Given the description of an element on the screen output the (x, y) to click on. 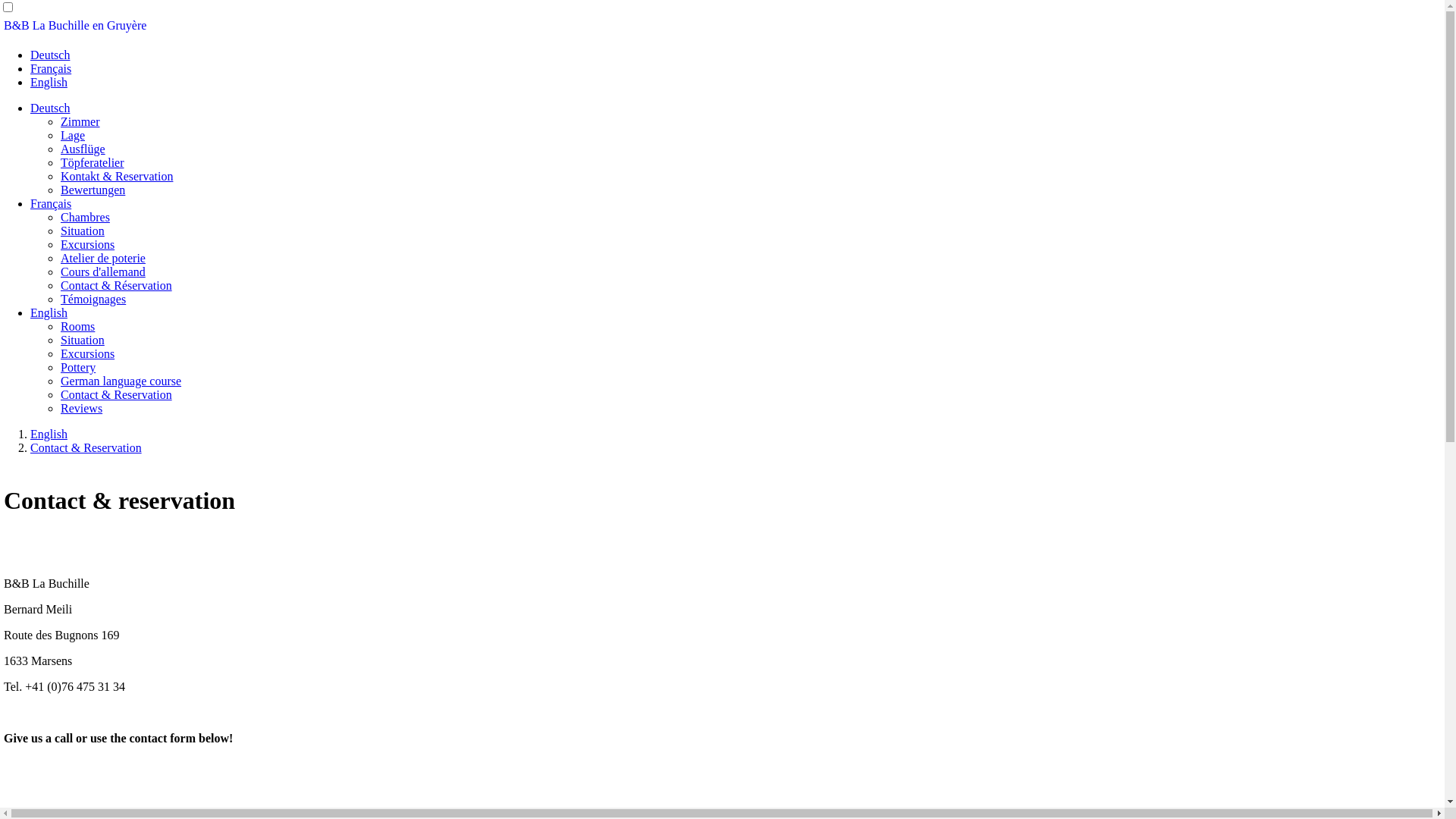
Bewertungen Element type: text (92, 189)
Lage Element type: text (72, 134)
Pottery Element type: text (77, 366)
Situation Element type: text (82, 230)
Kontakt & Reservation Element type: text (116, 175)
Contact & Reservation Element type: text (85, 447)
German language course Element type: text (120, 380)
Deutsch Element type: text (49, 107)
English Element type: text (48, 312)
Contact & Reservation Element type: text (116, 394)
Chambres Element type: text (84, 216)
Deutsch Element type: text (49, 54)
Excursions Element type: text (87, 353)
Reviews Element type: text (81, 407)
Excursions Element type: text (87, 244)
Zimmer Element type: text (80, 121)
Atelier de poterie Element type: text (102, 257)
Rooms Element type: text (77, 326)
English Element type: text (48, 433)
Situation Element type: text (82, 339)
Cours d'allemand Element type: text (102, 271)
English Element type: text (48, 81)
